Given the description of an element on the screen output the (x, y) to click on. 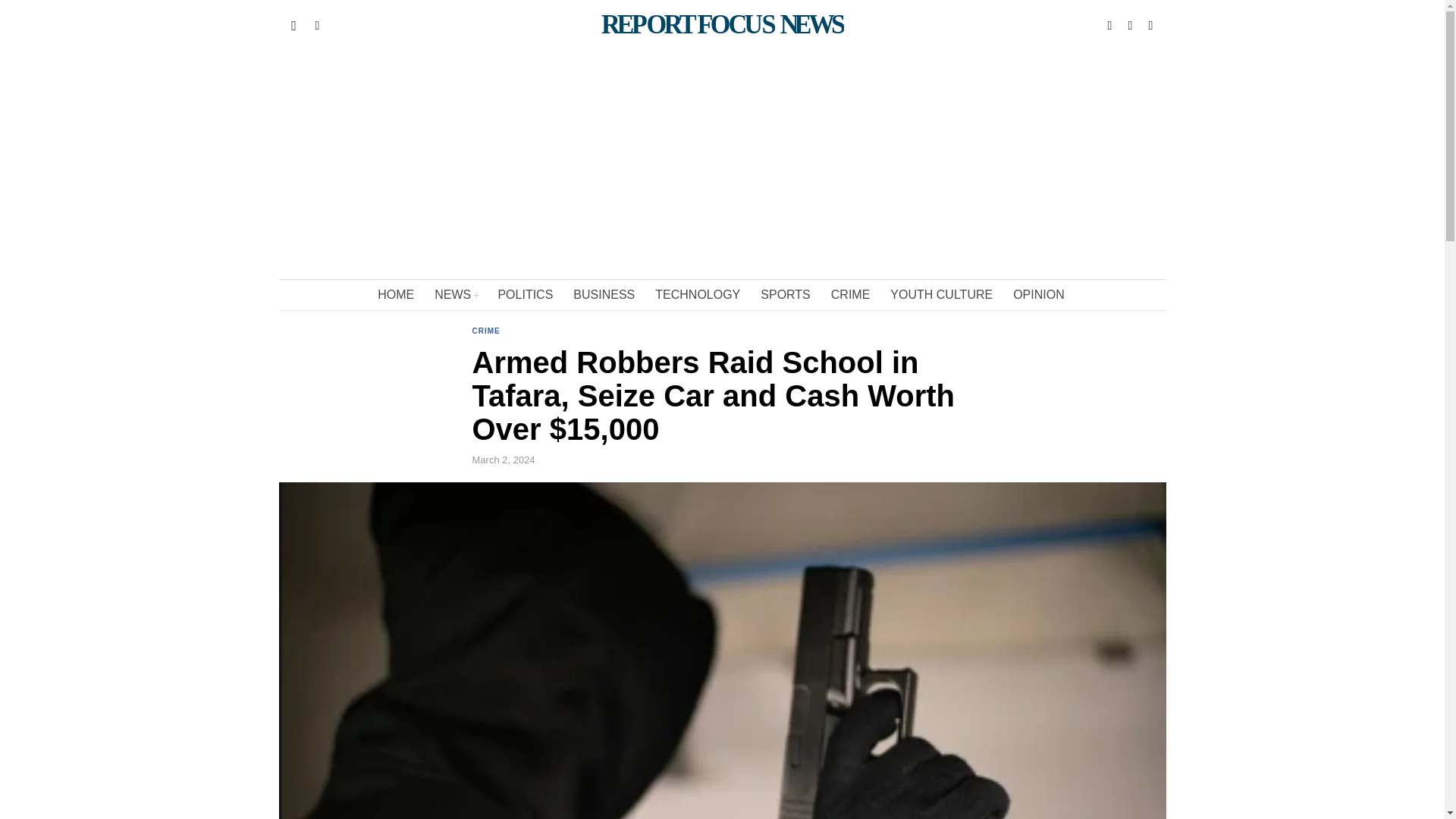
TECHNOLOGY (698, 295)
OPINION (1039, 295)
NEWS (456, 295)
YOUTH CULTURE (942, 295)
HOME (396, 295)
BUSINESS (605, 295)
POLITICS (525, 295)
CRIME (485, 331)
SPORTS (786, 295)
02 Mar, 2024 13:26:01 (502, 459)
CRIME (852, 295)
